Given the description of an element on the screen output the (x, y) to click on. 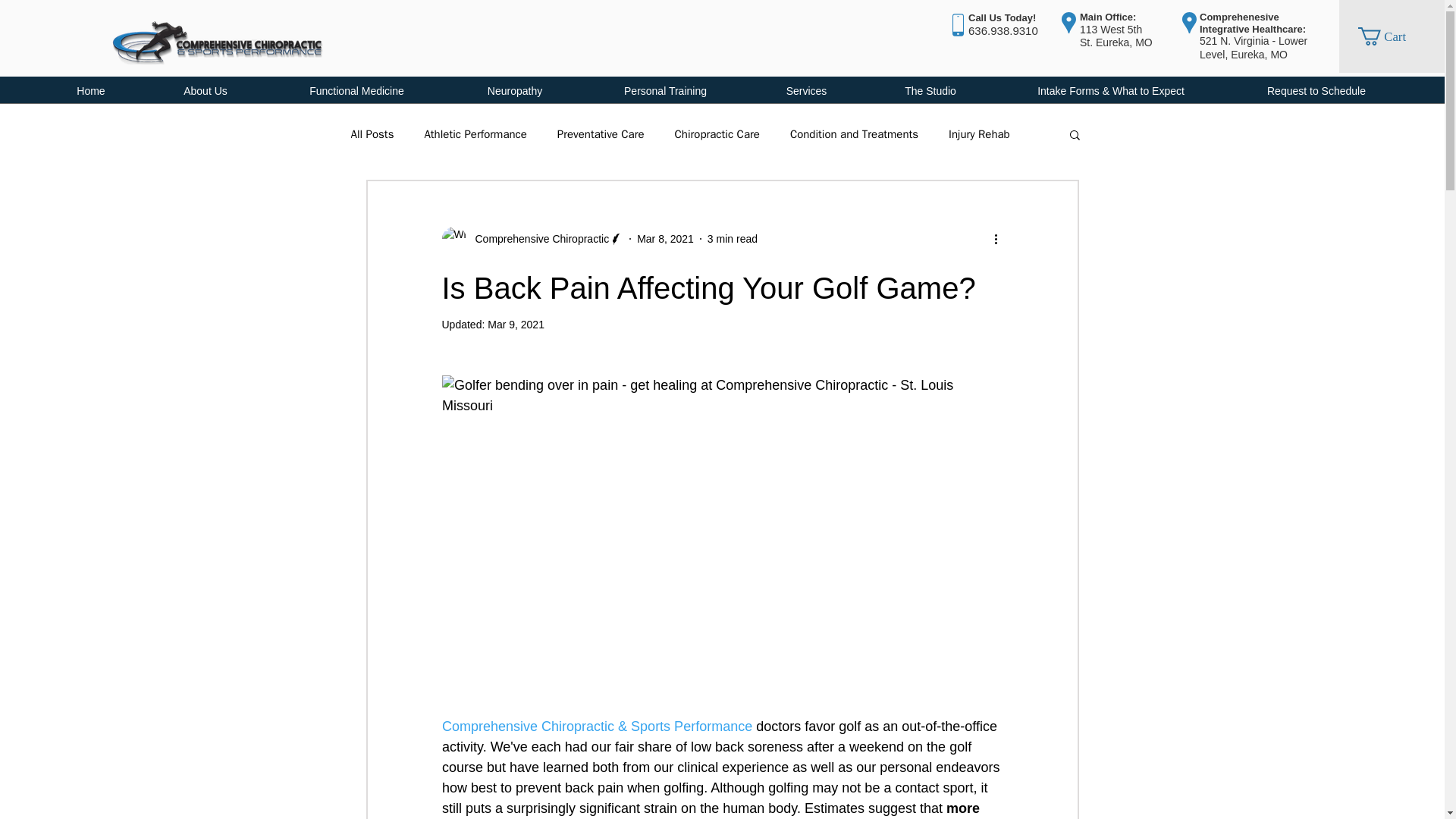
Mar 8, 2021 (665, 238)
Main Office: (1107, 16)
Home (90, 91)
Call Us Today! (1001, 17)
3 min read (732, 238)
Comprehenesive Integrative Healthcare: (1252, 23)
Personal Training (665, 91)
Eureka, MO (1124, 42)
Cart (1391, 36)
About Us (205, 91)
